Given the description of an element on the screen output the (x, y) to click on. 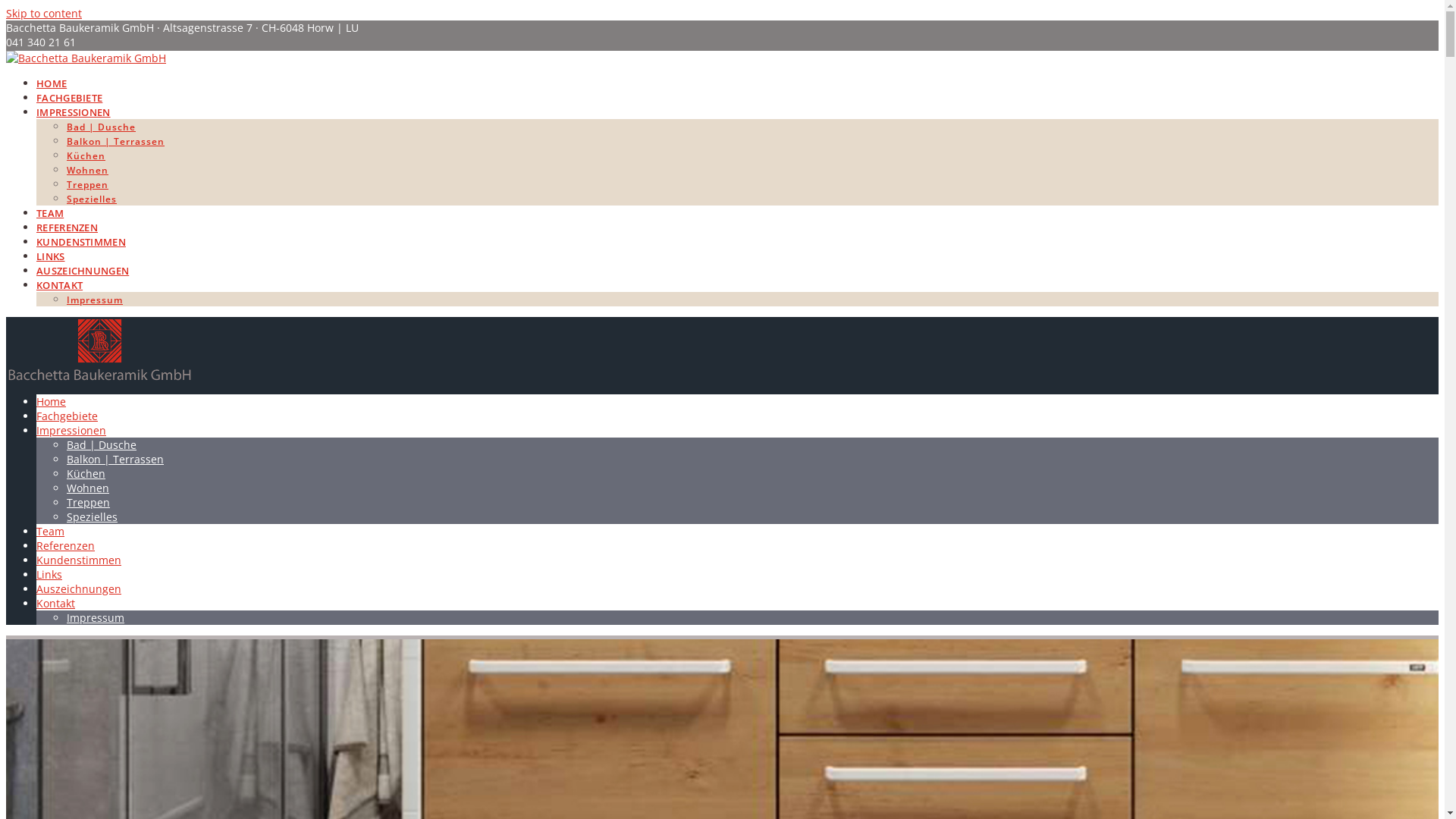
Fachgebiete Element type: text (66, 415)
Impressum Element type: text (95, 617)
Spezielles Element type: text (91, 516)
AUSZEICHNUNGEN Element type: text (82, 270)
FACHGEBIETE Element type: text (69, 97)
Balkon | Terrassen Element type: text (115, 140)
Treppen Element type: text (87, 184)
Skip to content Element type: text (43, 13)
KONTAKT Element type: text (59, 285)
HOME Element type: text (51, 83)
Balkon | Terrassen Element type: text (114, 458)
Team Element type: text (50, 531)
Kontakt Element type: text (55, 603)
Impressum Element type: text (94, 299)
Wohnen Element type: text (87, 169)
Auszeichnungen Element type: text (78, 588)
REFERENZEN Element type: text (66, 227)
LINKS Element type: text (50, 256)
Treppen Element type: text (87, 502)
Bad | Dusche Element type: text (100, 126)
Bad | Dusche Element type: text (101, 444)
Impressionen Element type: text (71, 430)
IMPRESSIONEN Element type: text (73, 112)
Wohnen Element type: text (87, 487)
Referenzen Element type: text (65, 545)
KUNDENSTIMMEN Element type: text (80, 241)
Links Element type: text (49, 574)
Home Element type: text (50, 401)
Spezielles Element type: text (91, 198)
Kundenstimmen Element type: text (78, 559)
TEAM Element type: text (49, 213)
